Given the description of an element on the screen output the (x, y) to click on. 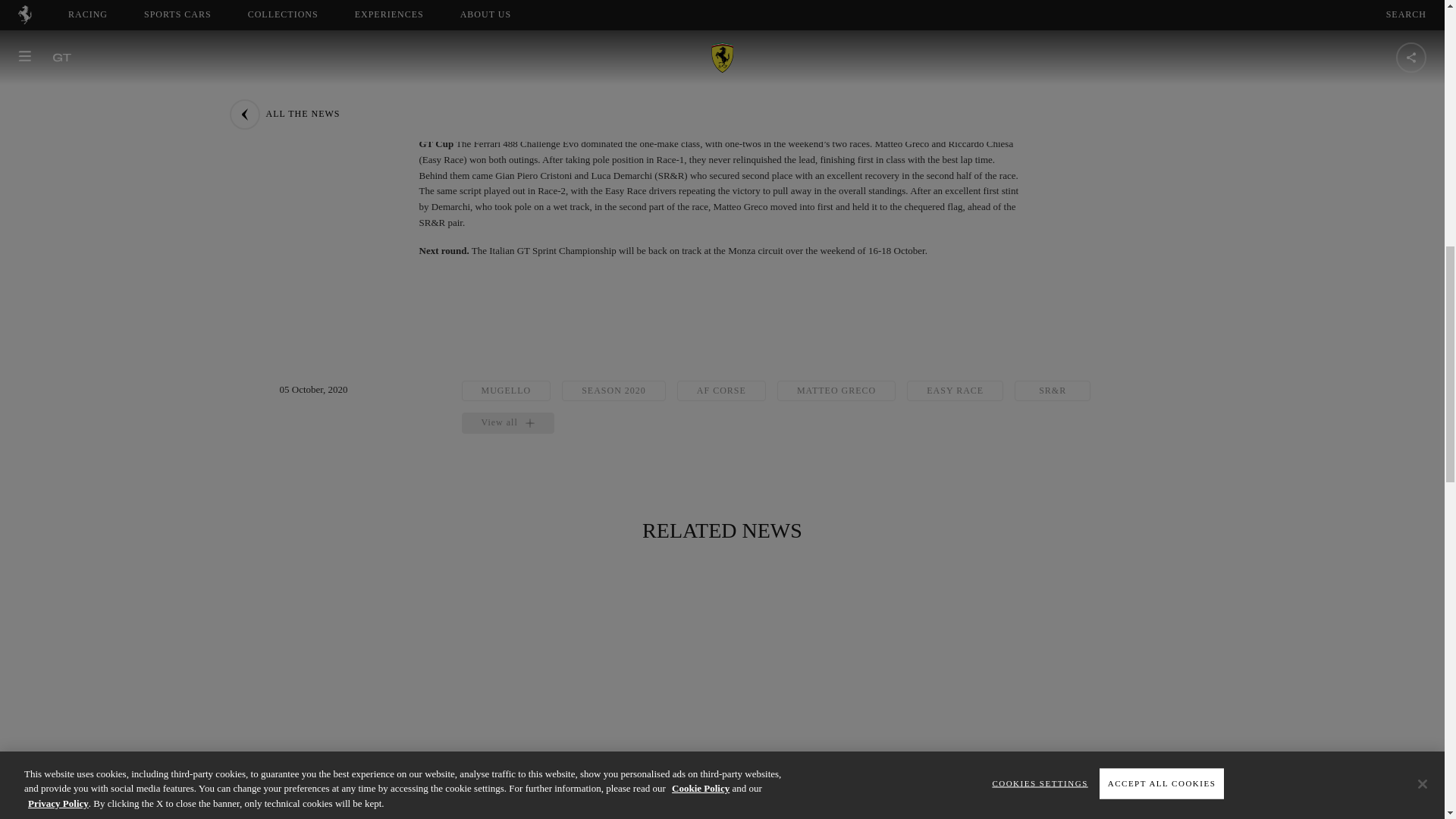
SEASON 2020 (613, 390)
View all (507, 423)
MUGELLO (505, 390)
EASY RACE (955, 390)
AF CORSE (721, 390)
MATTEO GRECO (836, 390)
